Given the description of an element on the screen output the (x, y) to click on. 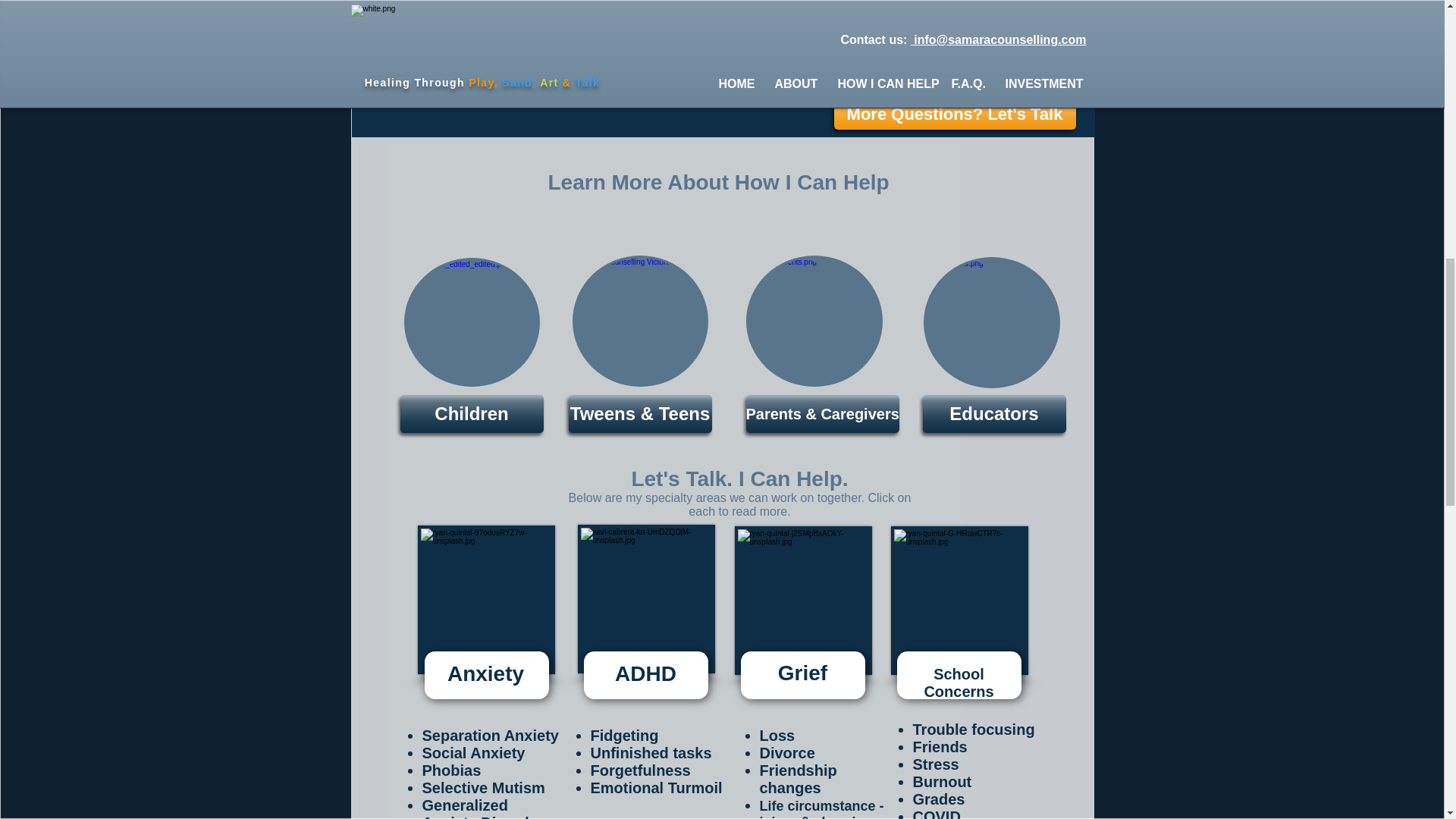
Meet Rachel (952, 64)
More Questions? Let's Talk (954, 114)
Educators (993, 413)
Children (471, 413)
